Given the description of an element on the screen output the (x, y) to click on. 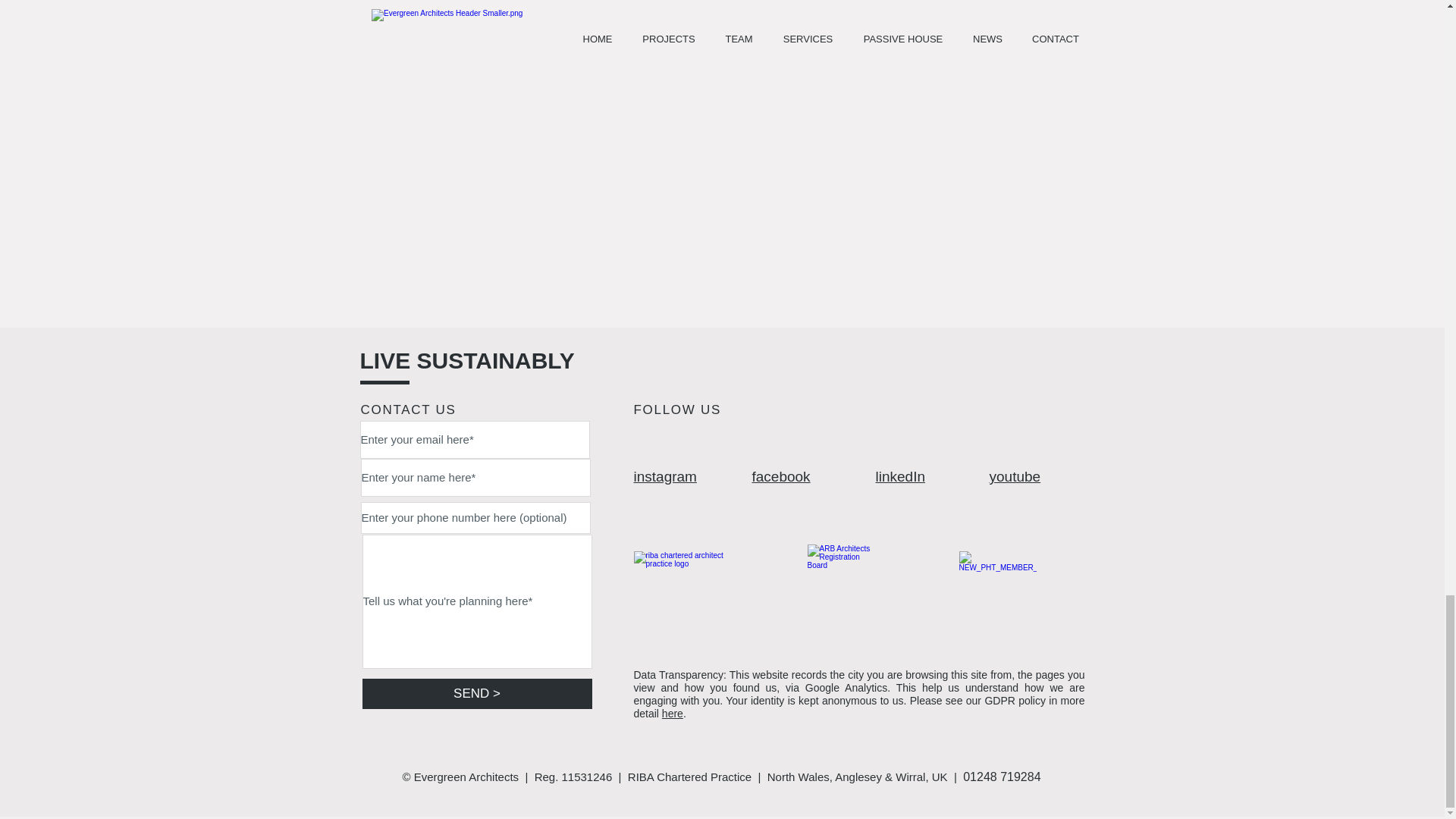
here (672, 713)
linkedIn (899, 476)
facebook (781, 476)
youtube (1014, 476)
instagram (665, 476)
